Given the description of an element on the screen output the (x, y) to click on. 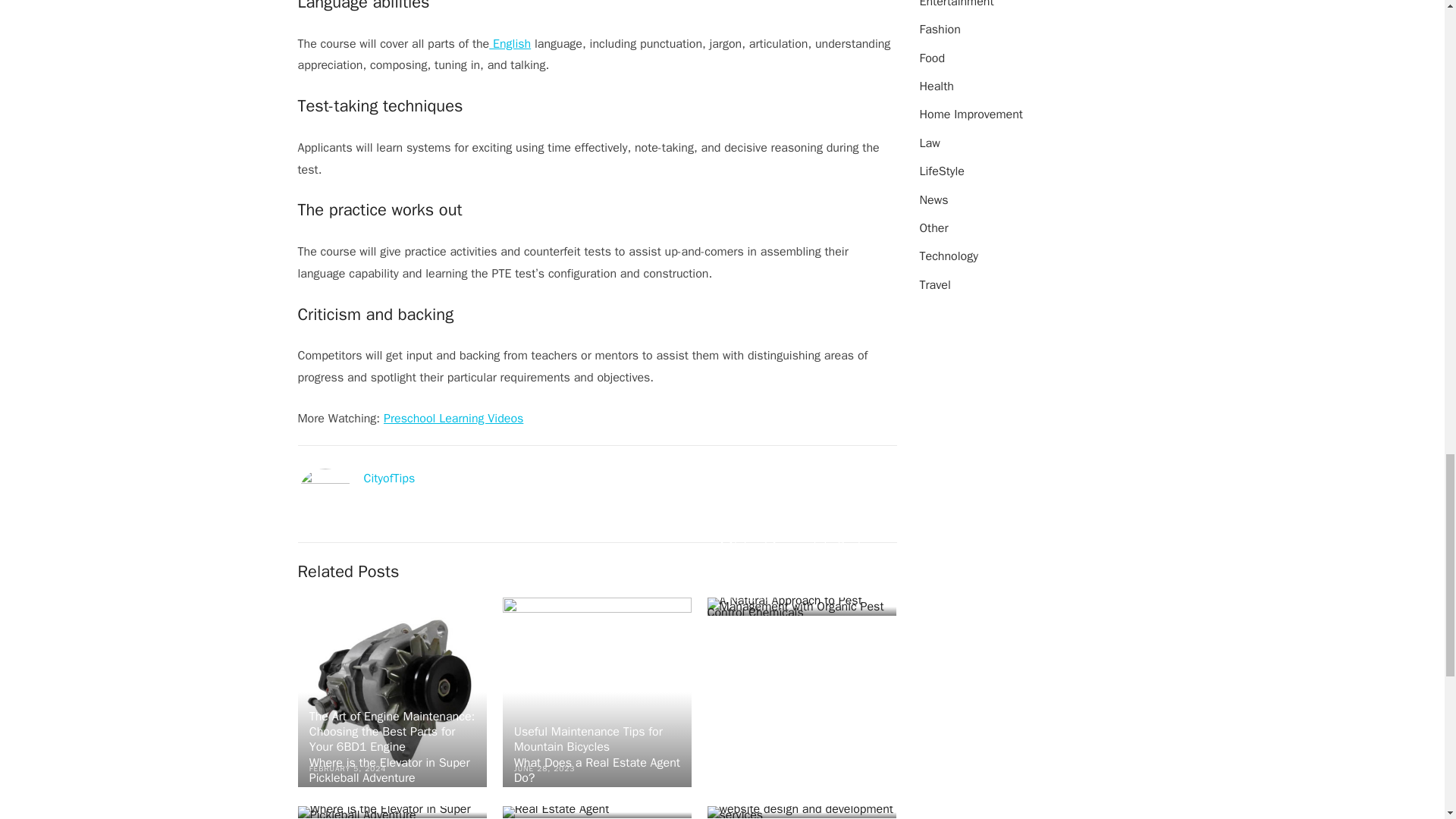
Preschool Learning Videos (453, 418)
CityofTips (389, 478)
English (510, 43)
